Given the description of an element on the screen output the (x, y) to click on. 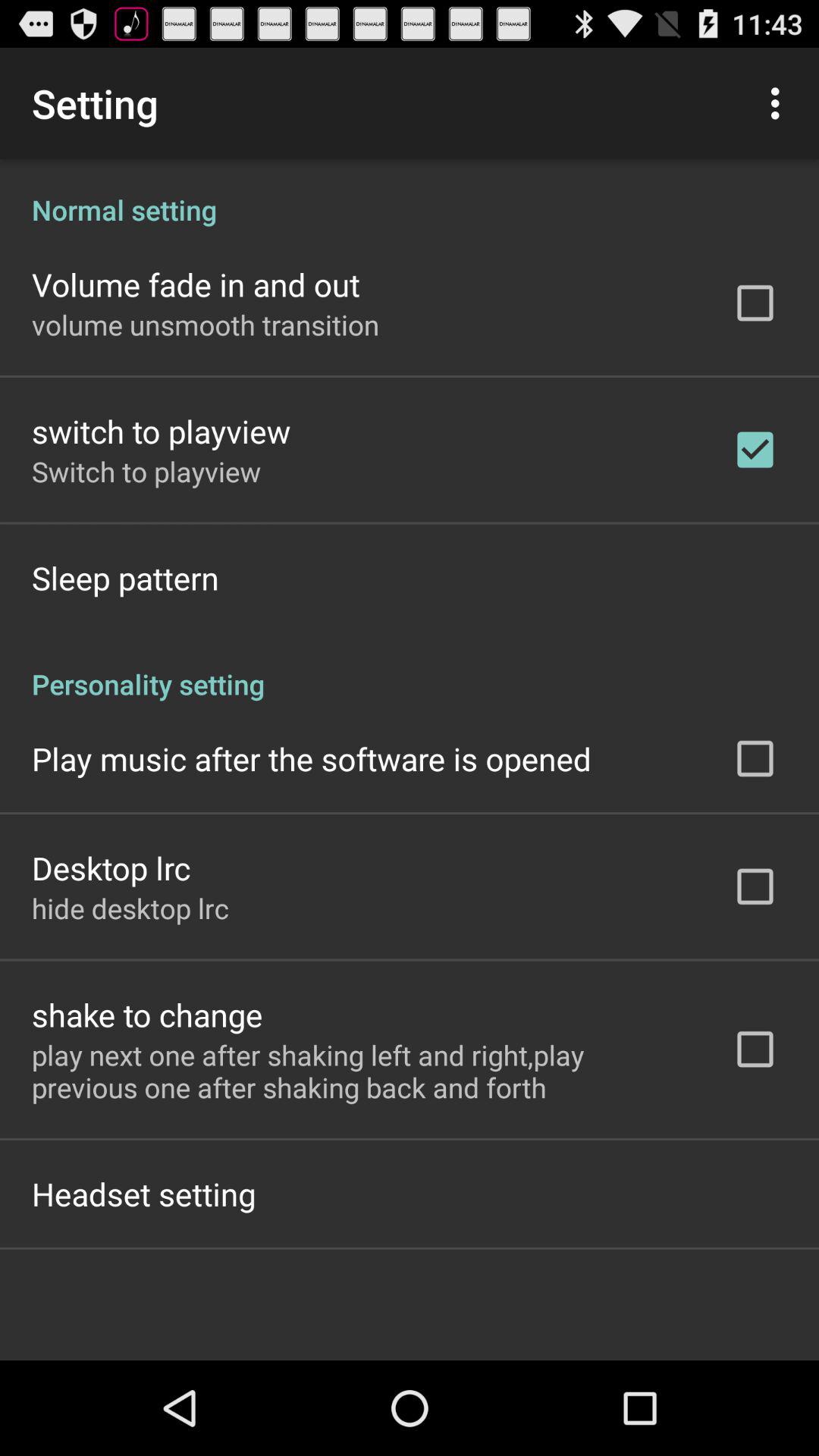
scroll to volume fade in (195, 283)
